Given the description of an element on the screen output the (x, y) to click on. 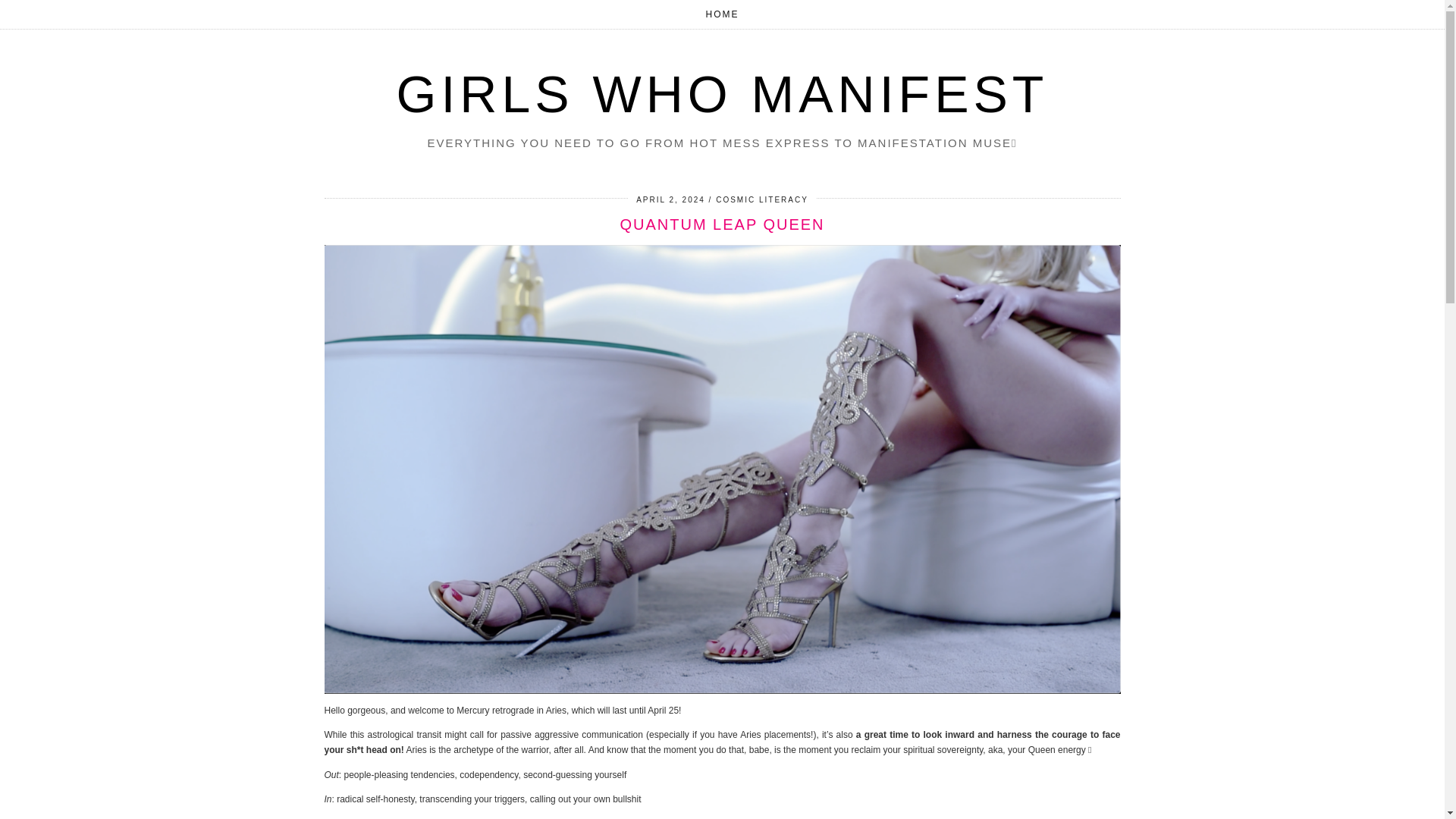
Girls Who Manifest (722, 93)
COSMIC LITERACY (762, 199)
HOME (722, 14)
GIRLS WHO MANIFEST (722, 93)
